Given the description of an element on the screen output the (x, y) to click on. 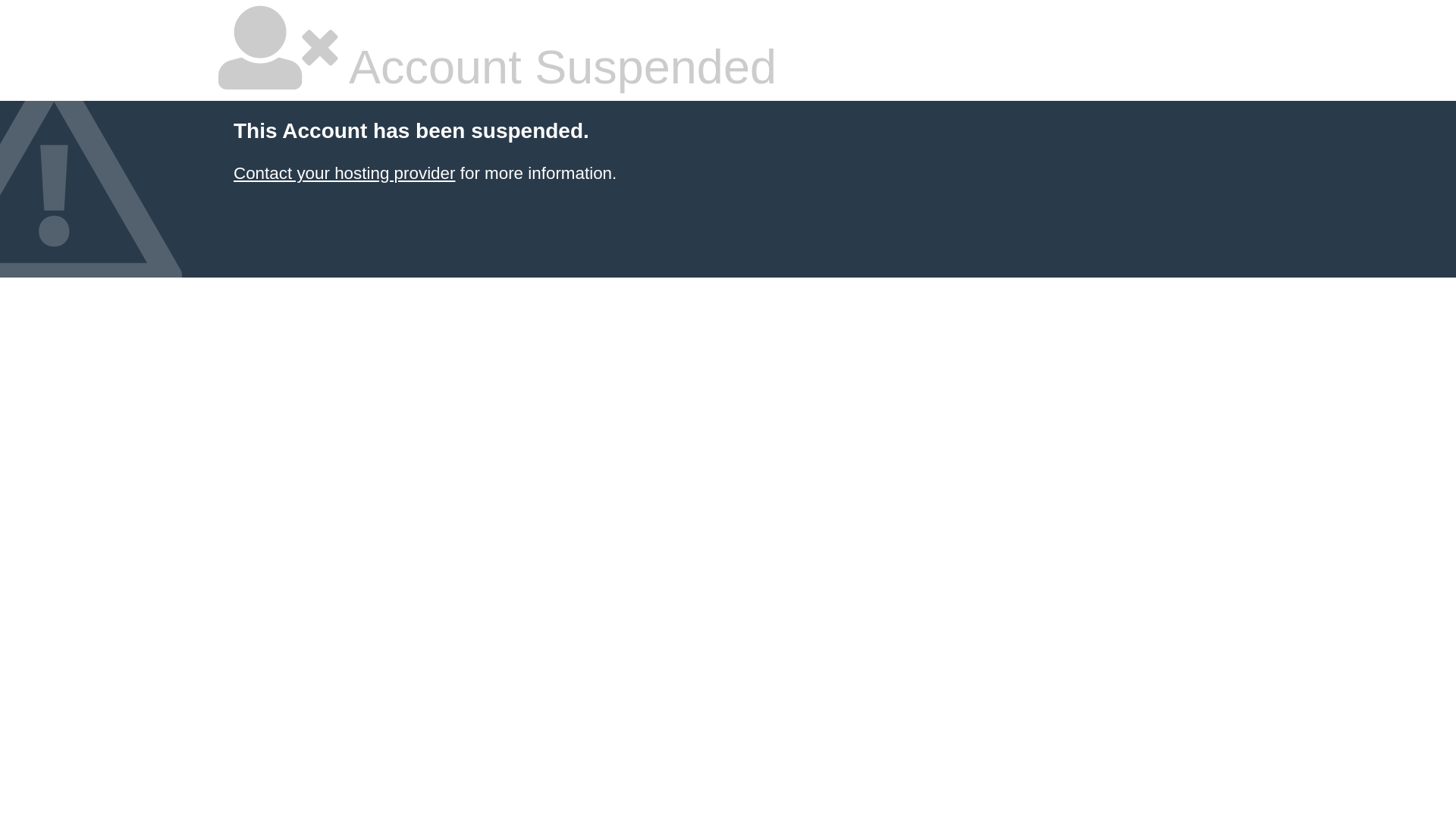
Contact your hosting provider Element type: text (344, 172)
